Given the description of an element on the screen output the (x, y) to click on. 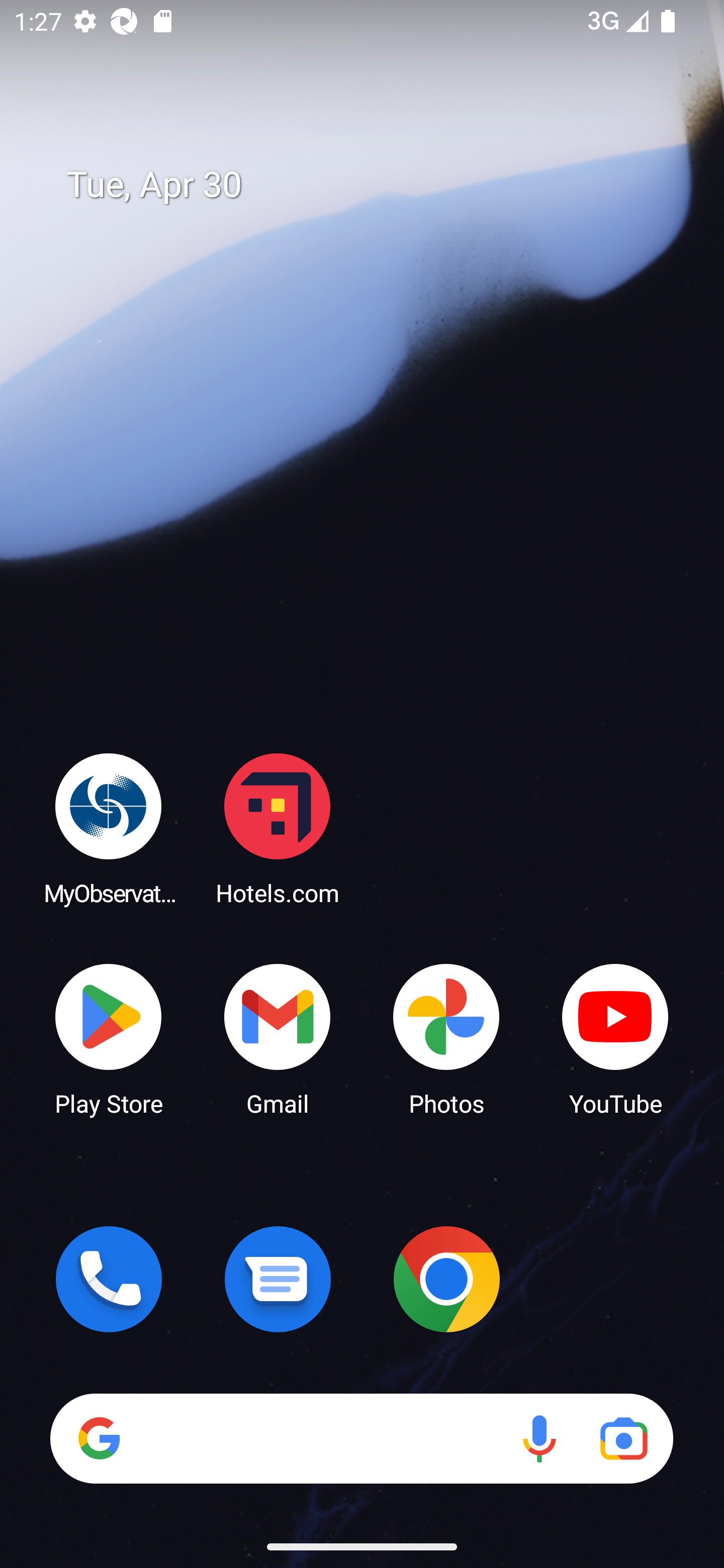
Tue, Apr 30 (375, 184)
MyObservatory (108, 828)
Hotels.com (277, 828)
Play Store (108, 1038)
Gmail (277, 1038)
Photos (445, 1038)
YouTube (615, 1038)
Phone (108, 1279)
Messages (277, 1279)
Chrome (446, 1279)
Voice search (539, 1438)
Google Lens (623, 1438)
